Given the description of an element on the screen output the (x, y) to click on. 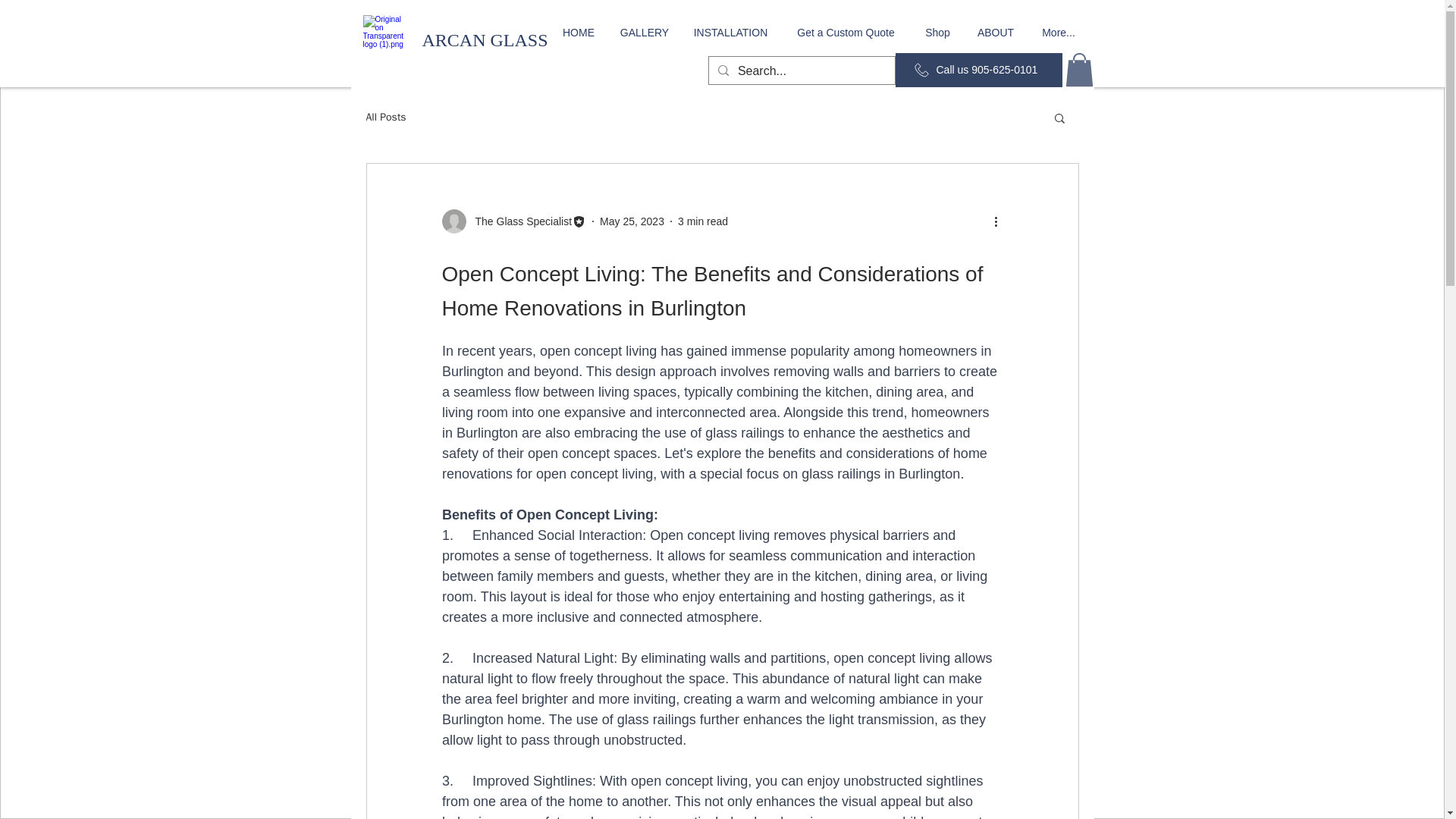
Get a Custom Quote (845, 32)
The Glass Specialist (518, 221)
3 min read (703, 221)
Shop (937, 32)
GALLERY (643, 32)
May 25, 2023 (631, 221)
ARCAN GLASS (484, 39)
ABOUT (995, 32)
HOME (578, 32)
All Posts (385, 117)
